Given the description of an element on the screen output the (x, y) to click on. 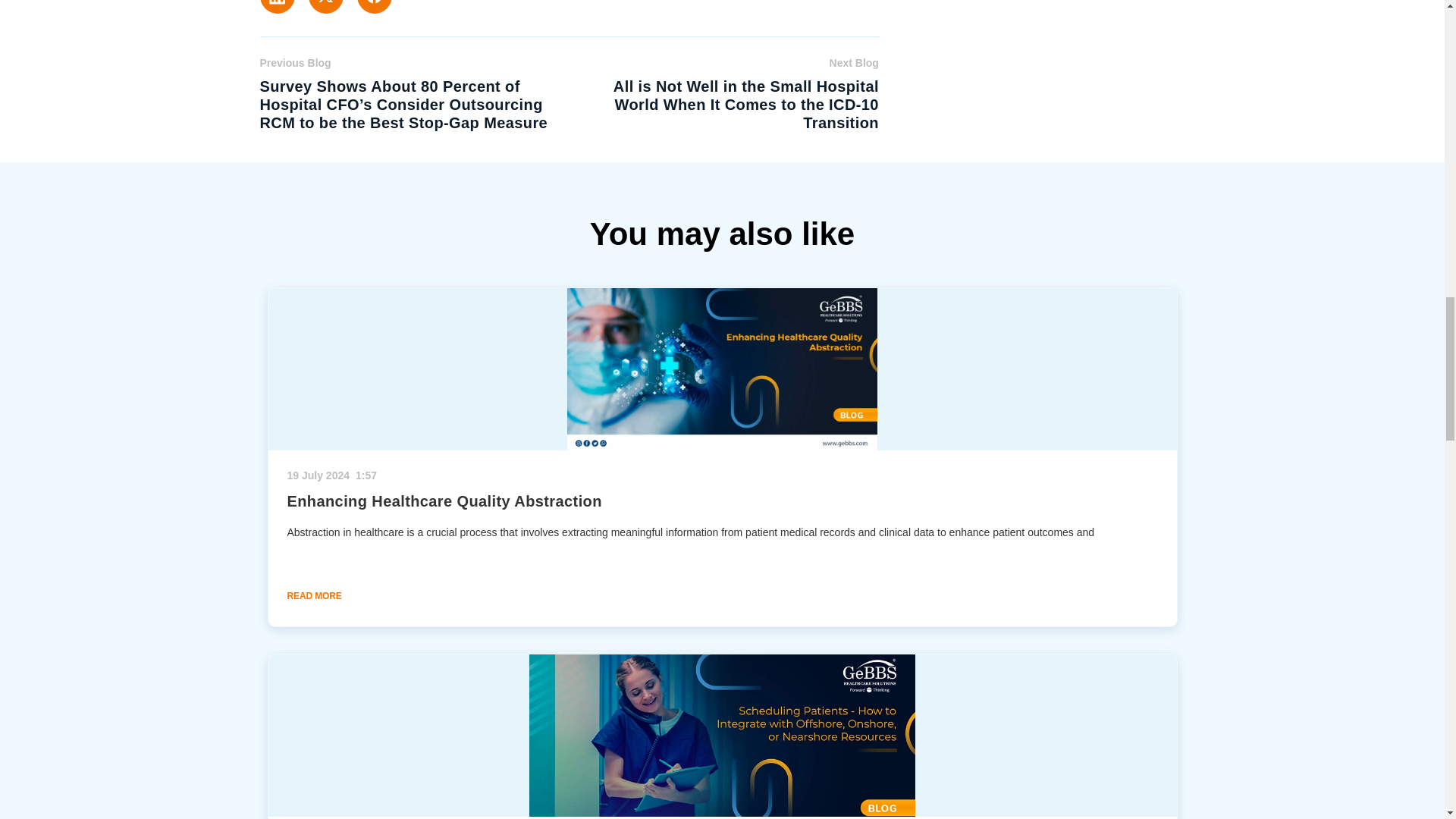
Share on X (324, 6)
Share on Facebook (373, 6)
Share on LinkedIn (276, 6)
